Given the description of an element on the screen output the (x, y) to click on. 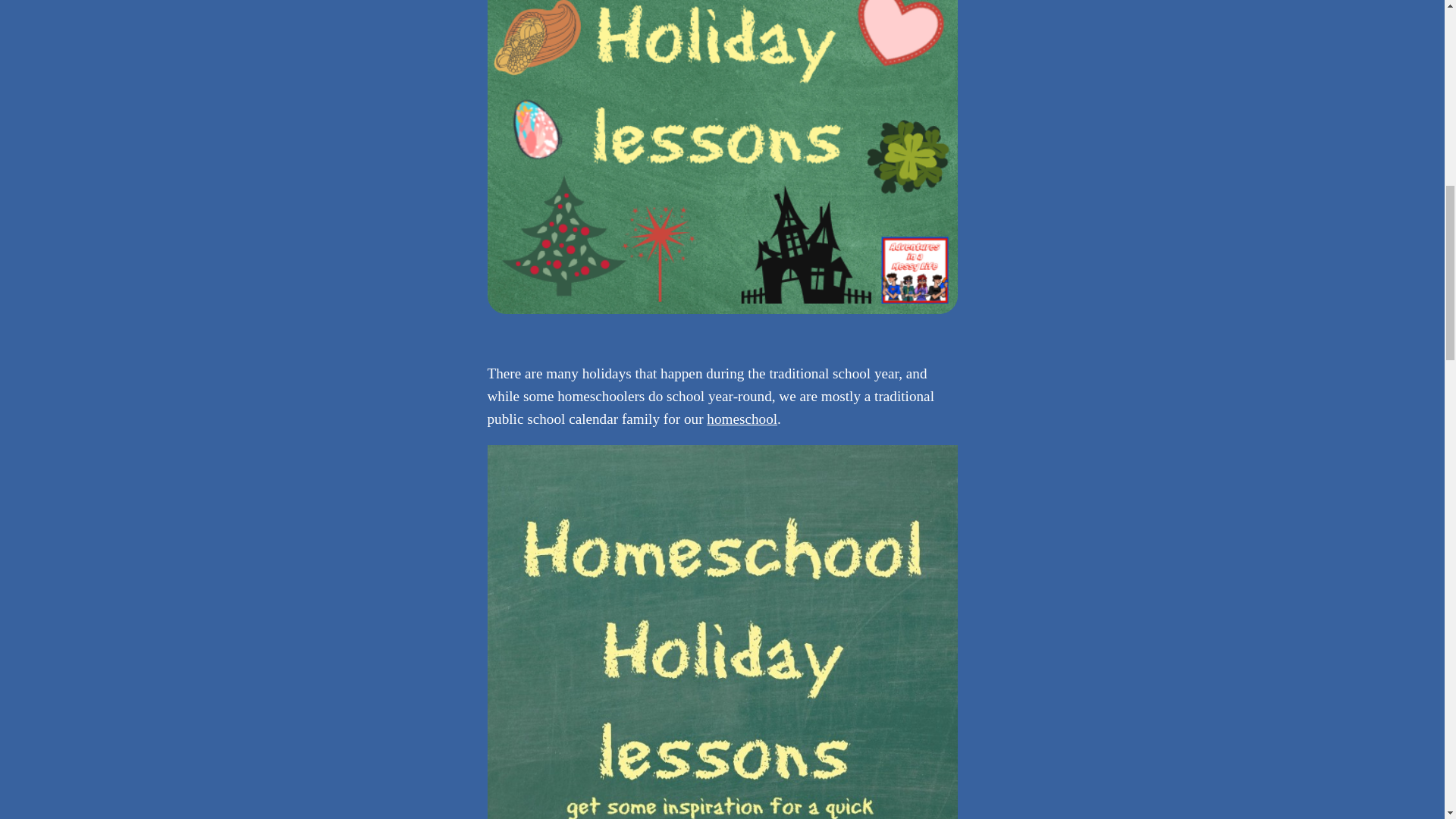
homeschool (741, 418)
